Given the description of an element on the screen output the (x, y) to click on. 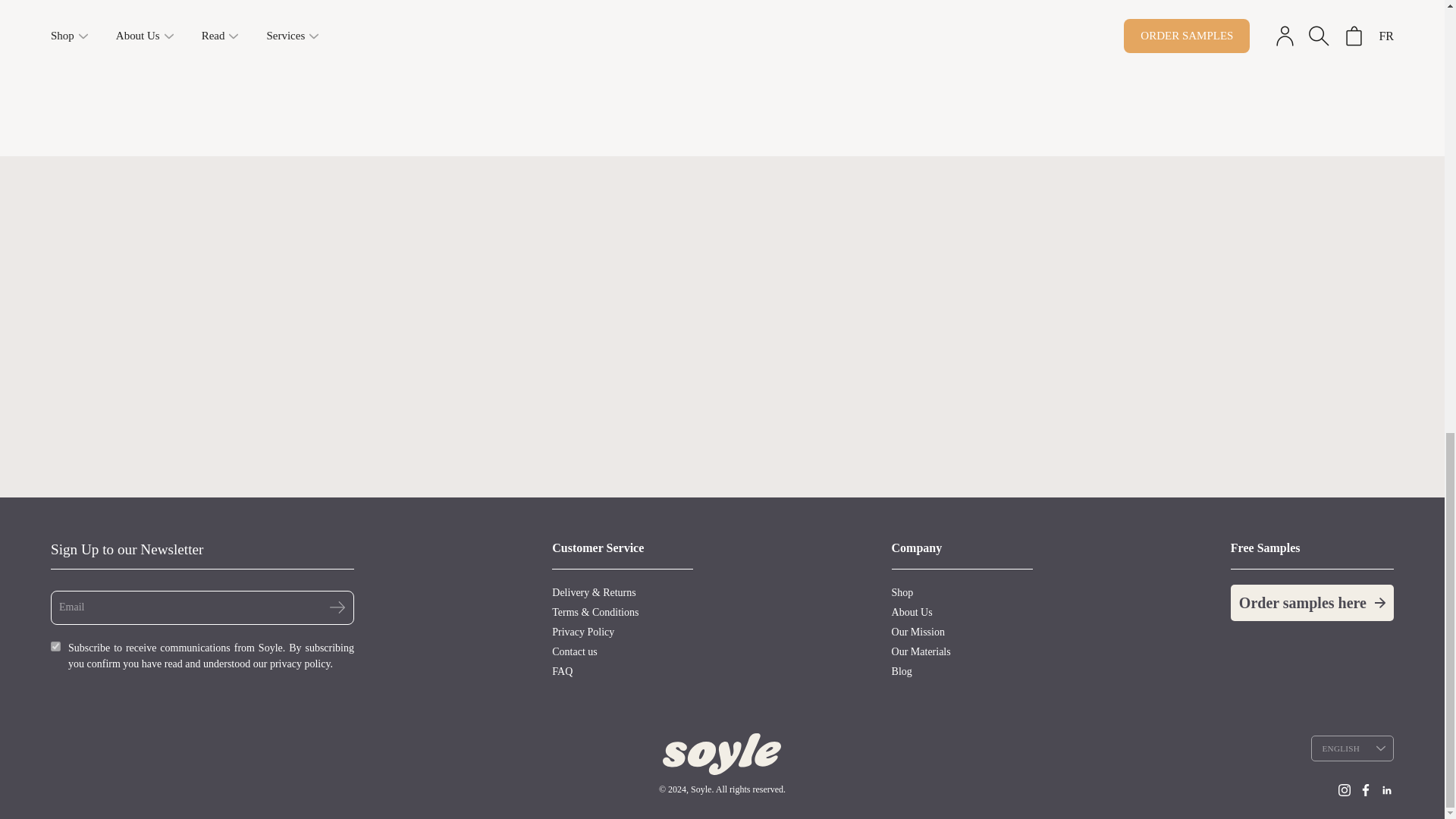
on (55, 646)
